Given the description of an element on the screen output the (x, y) to click on. 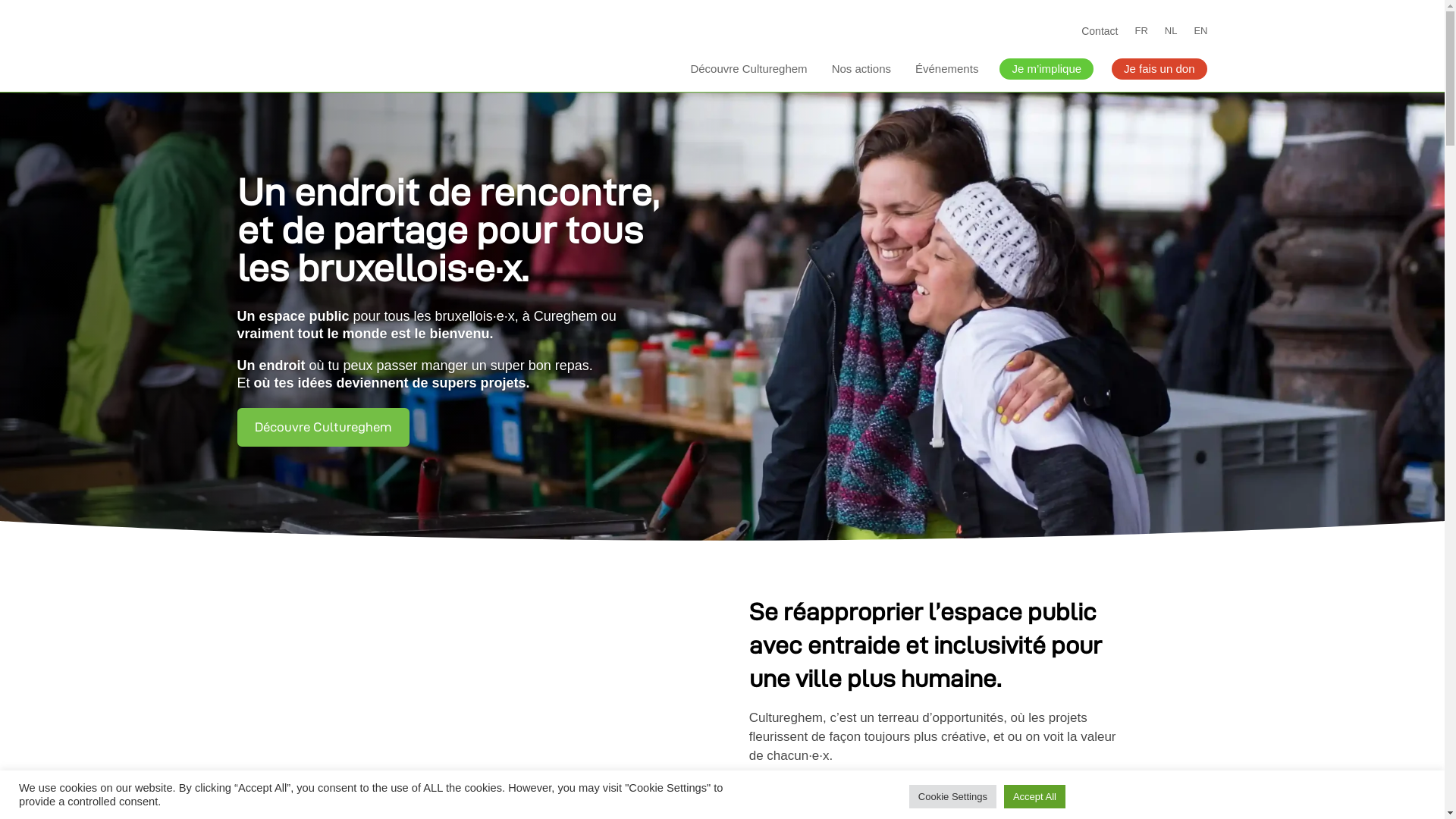
Symbole-700 x 700 - VISION Element type: hover (257, 636)
NL Element type: text (1170, 33)
EN Element type: text (1200, 33)
Je fais un don Element type: text (1159, 68)
Cookie Settings Element type: text (952, 796)
Accept All Element type: text (1034, 796)
FR Element type: text (1140, 33)
Contact Element type: text (1099, 33)
Nos actions Element type: text (861, 68)
